Given the description of an element on the screen output the (x, y) to click on. 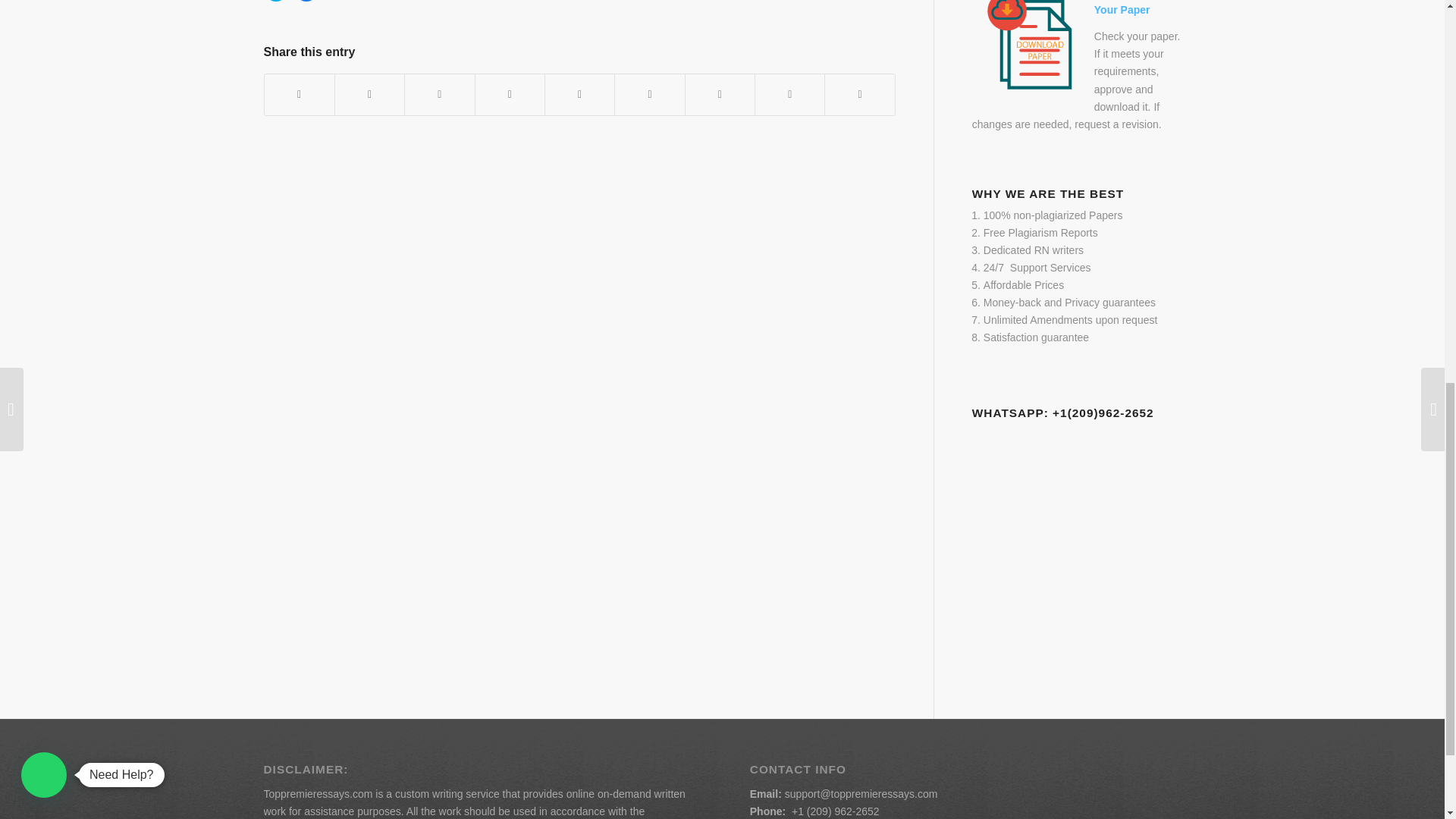
Click to share on Facebook (306, 0)
Click to share on Twitter (275, 0)
